Given the description of an element on the screen output the (x, y) to click on. 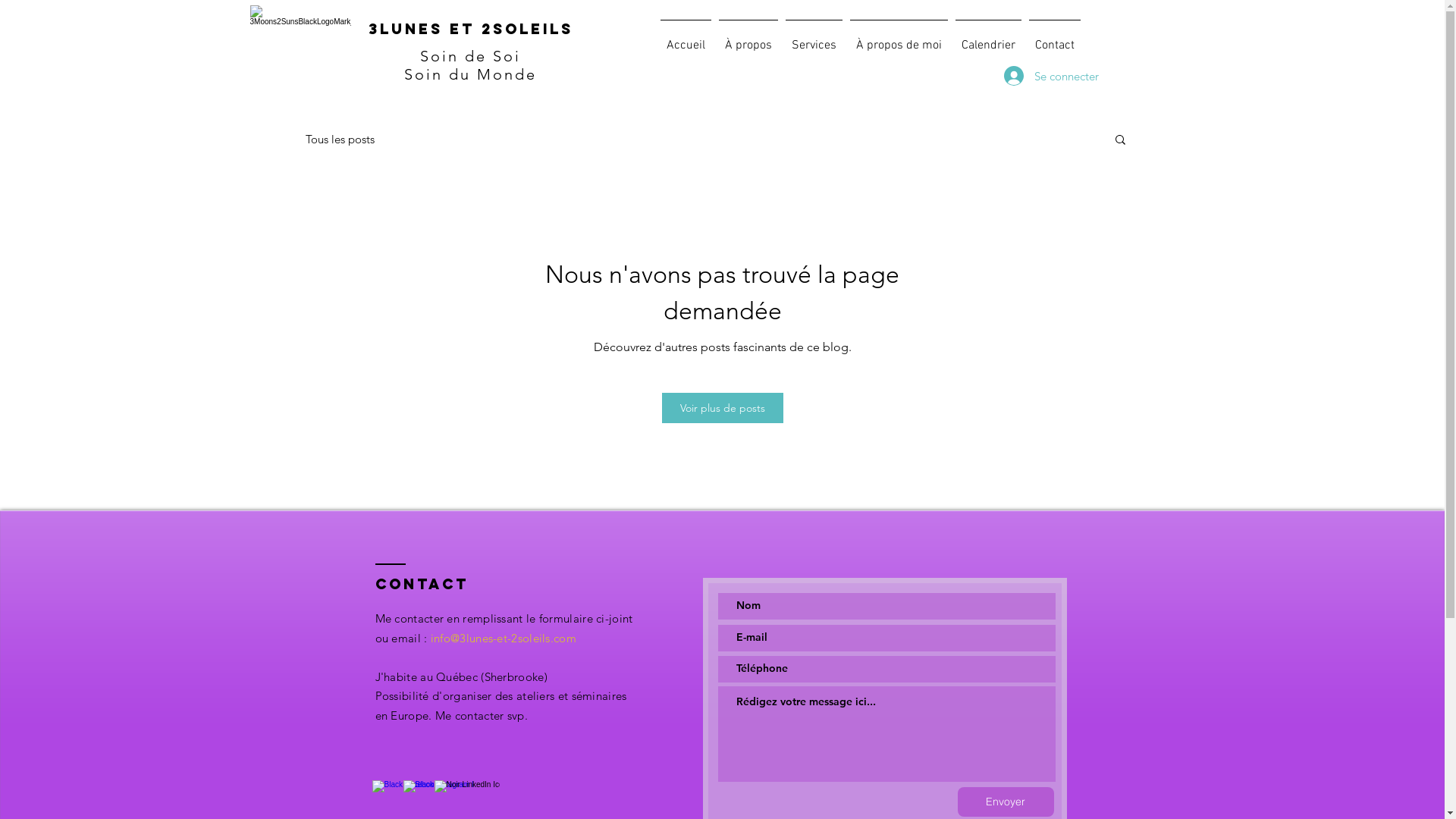
info@3lunes-et-2soleils.com Element type: text (503, 637)
Envoyer Element type: text (1005, 801)
3Lunes ET 2Soleils Element type: text (470, 28)
Tous les posts Element type: text (338, 138)
Contact Element type: text (1054, 38)
Services Element type: text (813, 38)
Voir plus de posts Element type: text (721, 407)
Calendrier Element type: text (987, 38)
Soin de Soi Element type: text (470, 56)
Accueil Element type: text (685, 38)
Se connecter Element type: text (1038, 75)
